Given the description of an element on the screen output the (x, y) to click on. 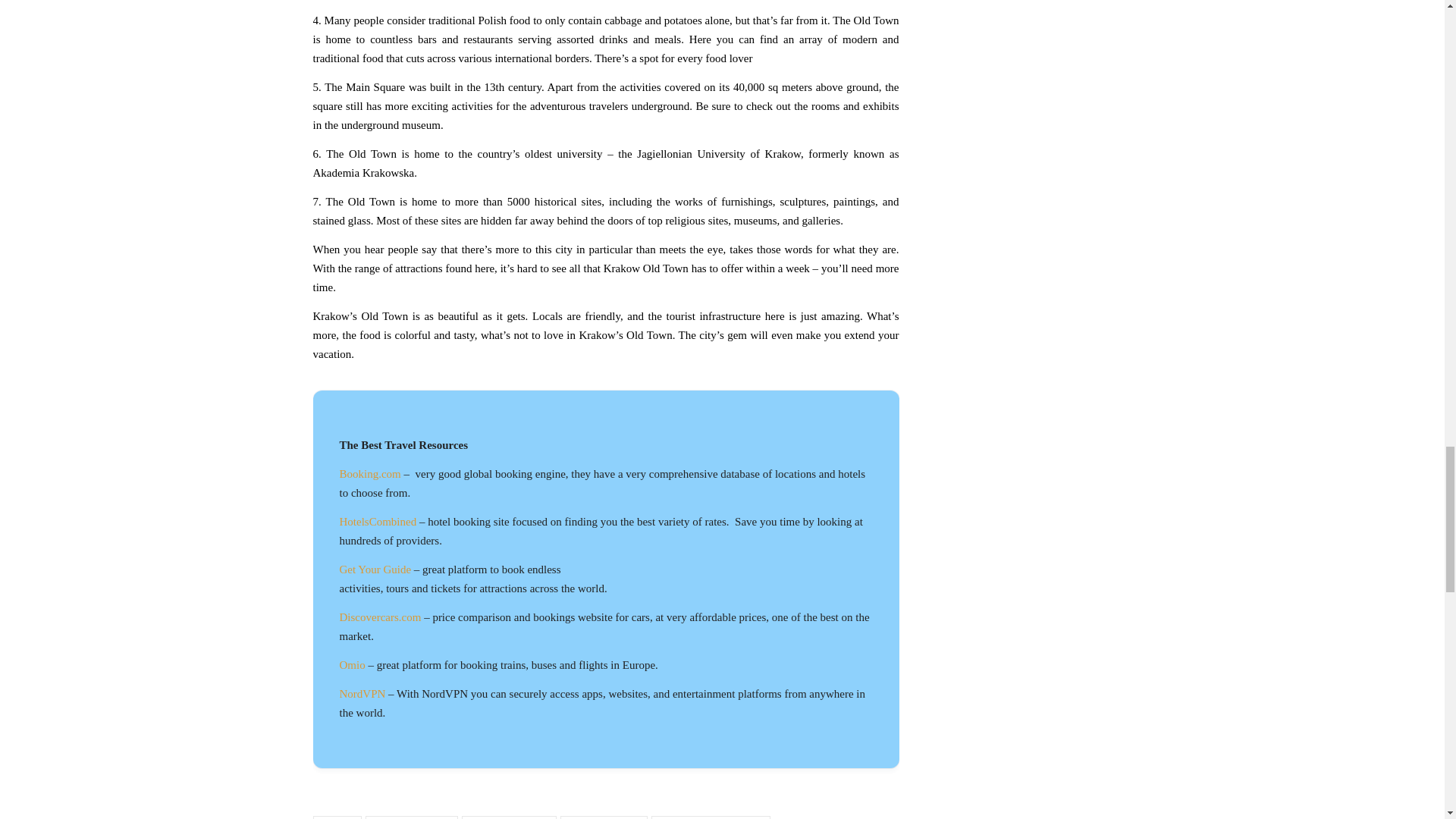
Krakow Old Town (603, 817)
Booking.com (370, 473)
HotelsCombined (377, 521)
Get Your Guide (375, 569)
Krakow Monuments (508, 817)
Omio (352, 664)
Discovercars.com (380, 616)
Krakow (337, 817)
Krakow Landmarks (411, 817)
NordVPN (362, 693)
